Given the description of an element on the screen output the (x, y) to click on. 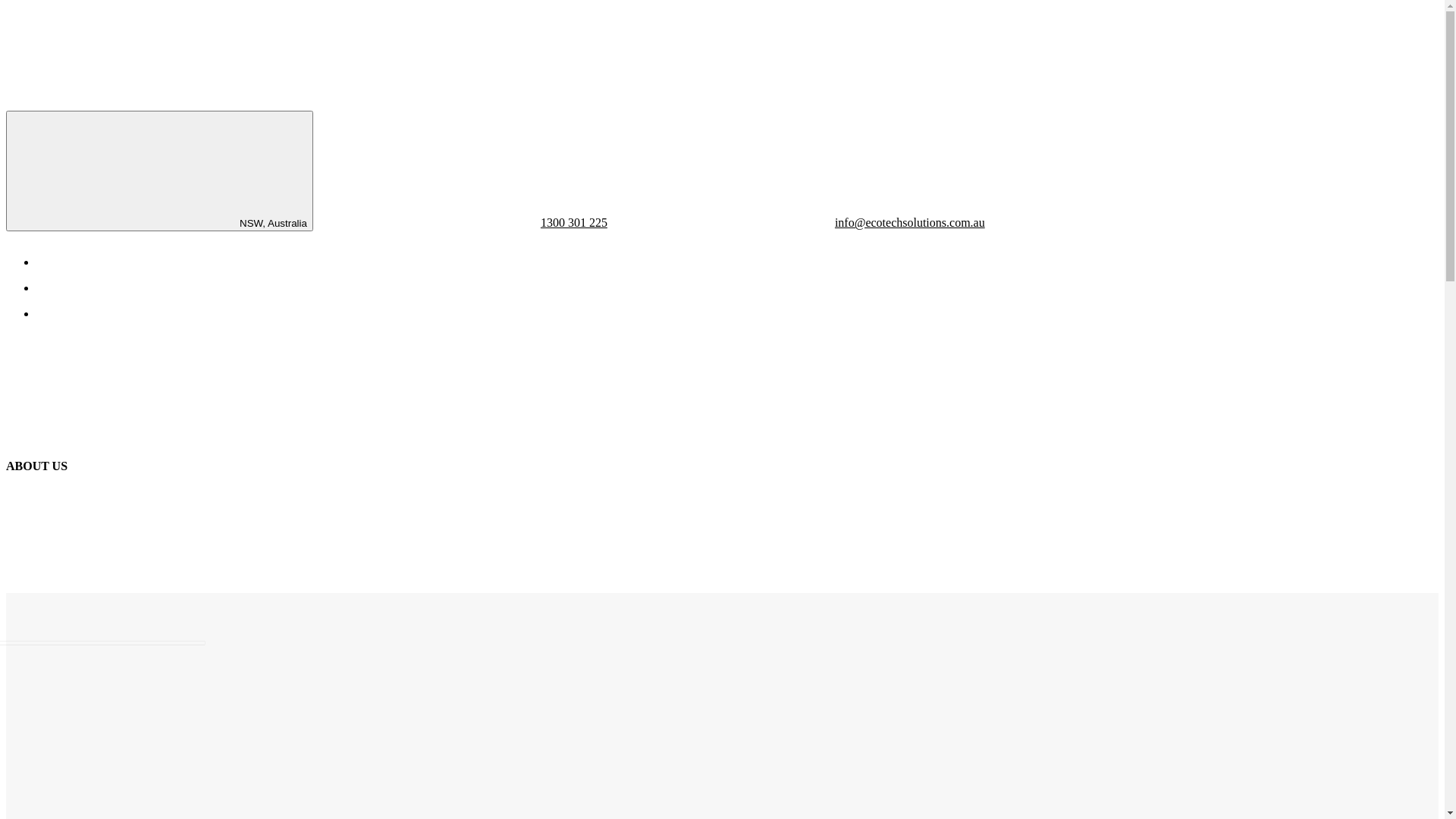
NSW, Australia Element type: text (159, 170)
info@ecotechsolutions.com.au Element type: text (796, 222)
1300 301 225 Element type: text (460, 222)
